Given the description of an element on the screen output the (x, y) to click on. 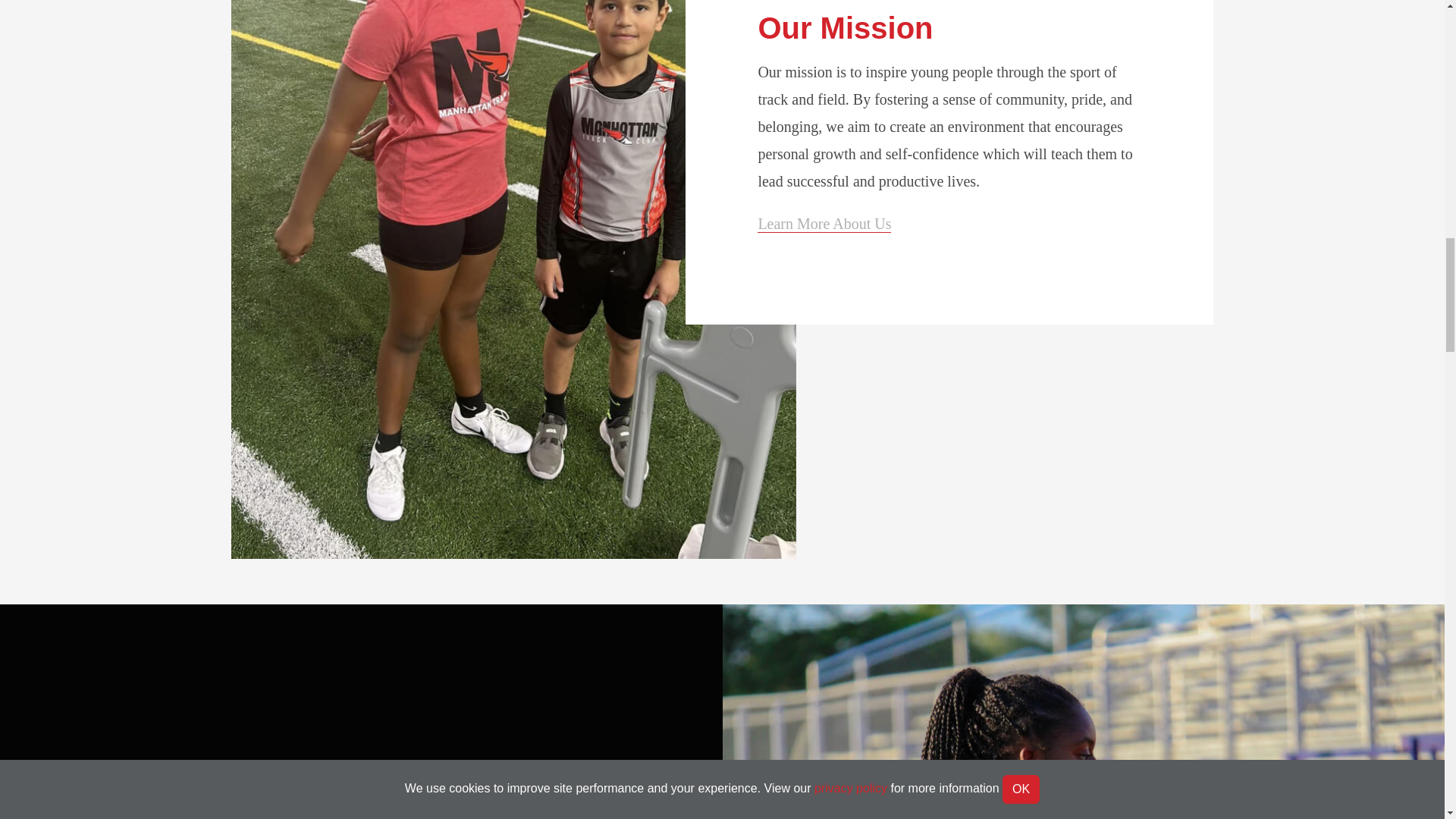
Learn More About Us (824, 223)
Learn More About Us (824, 223)
